Given the description of an element on the screen output the (x, y) to click on. 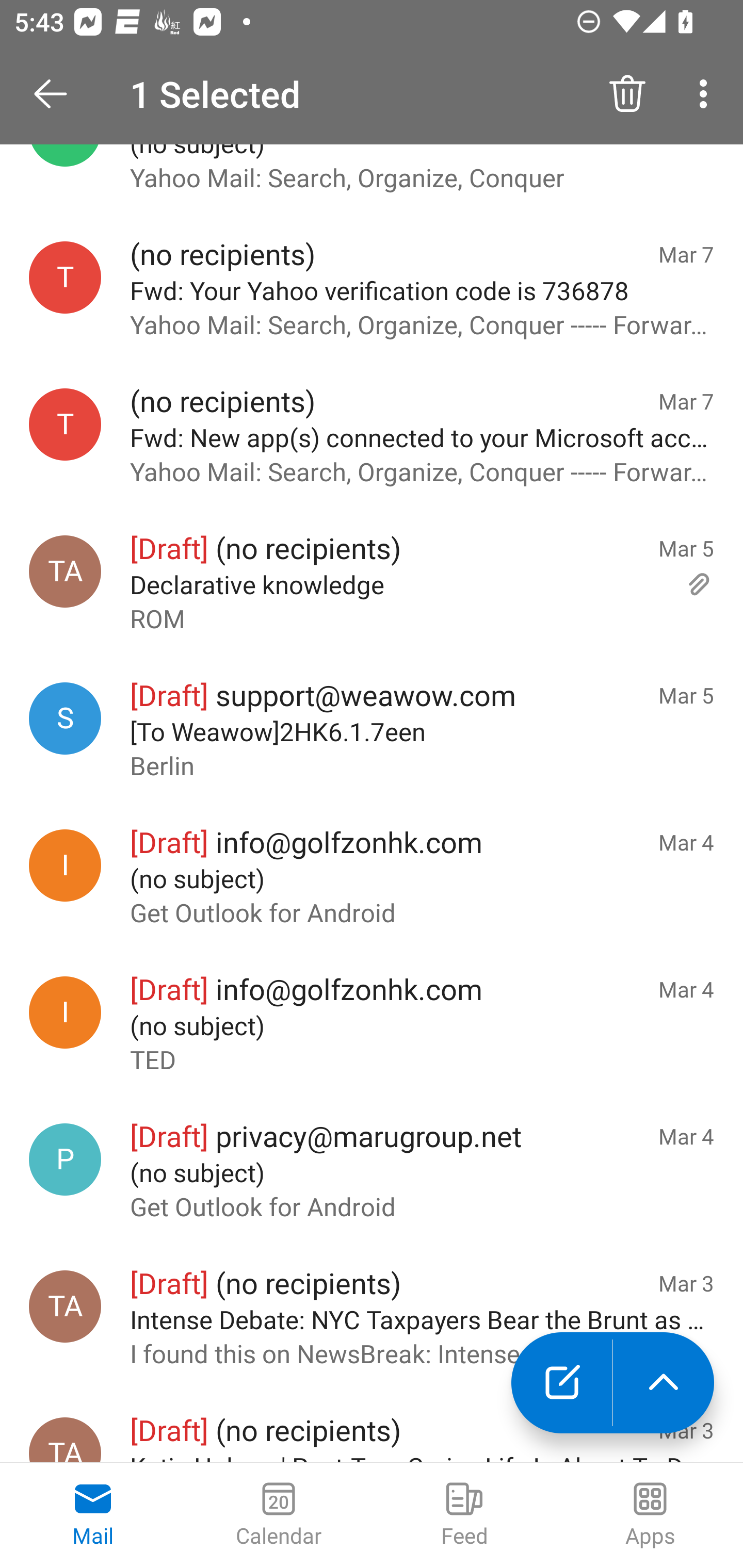
Delete (626, 93)
More options (706, 93)
Open Navigation Drawer (57, 94)
testappium002@outlook.com (64, 277)
testappium002@outlook.com (64, 424)
Test Appium, testappium002@outlook.com (64, 571)
support@weawow.com (64, 718)
info@golfzonhk.com (64, 865)
info@golfzonhk.com (64, 1012)
privacy@marugroup.net (64, 1158)
Test Appium, testappium002@outlook.com (64, 1306)
New mail (561, 1382)
launch the extended action menu (663, 1382)
Test Appium, testappium002@outlook.com (64, 1439)
Calendar (278, 1515)
Feed (464, 1515)
Apps (650, 1515)
